Given the description of an element on the screen output the (x, y) to click on. 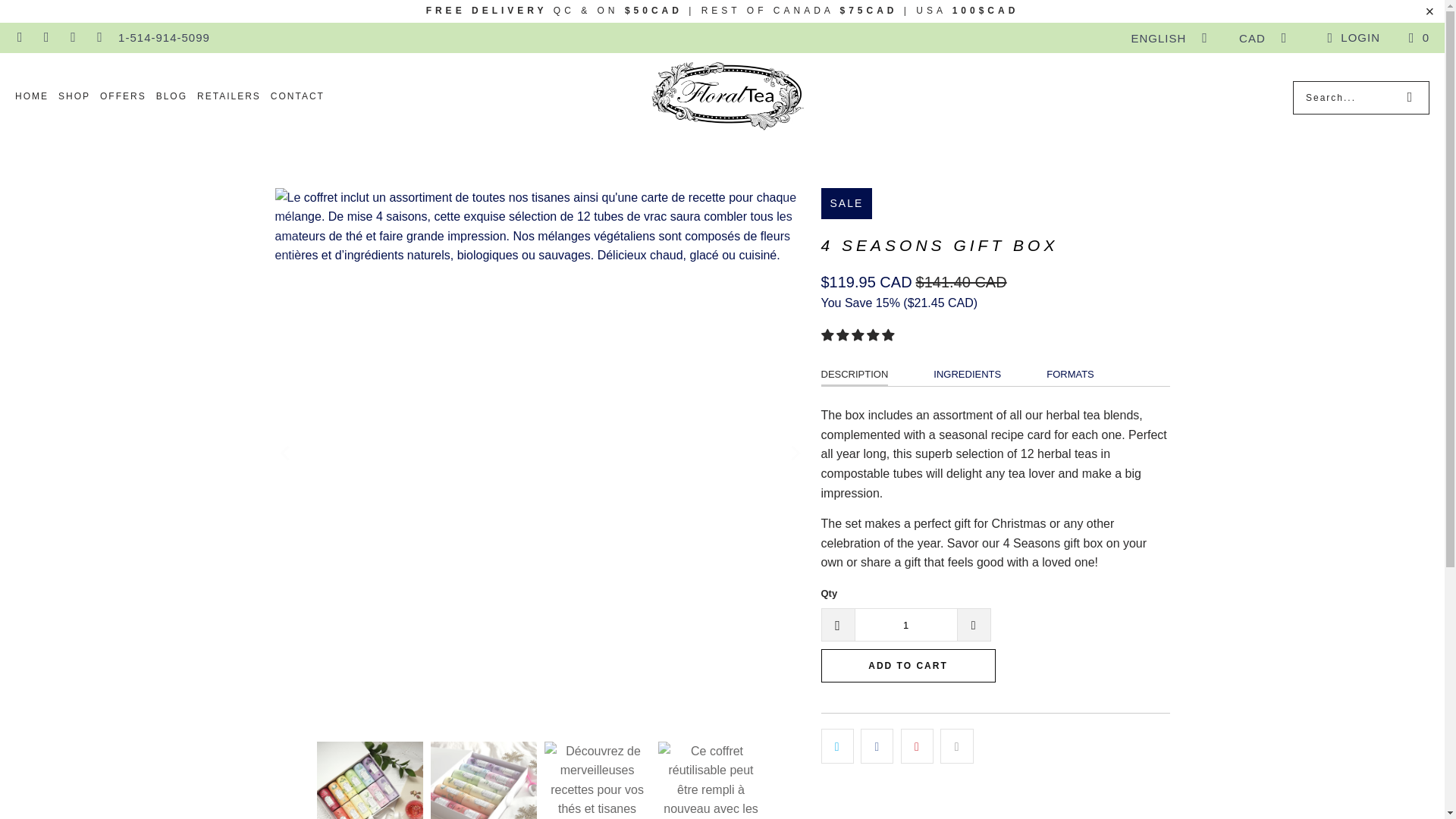
Share this on Pinterest (917, 745)
My Account  (1351, 37)
Email this to a friend (956, 745)
Share this on Twitter (837, 745)
Share this on Facebook (876, 745)
1 (904, 624)
ENGLISH (1164, 37)
1-514-914-5099 (163, 37)
